Given the description of an element on the screen output the (x, y) to click on. 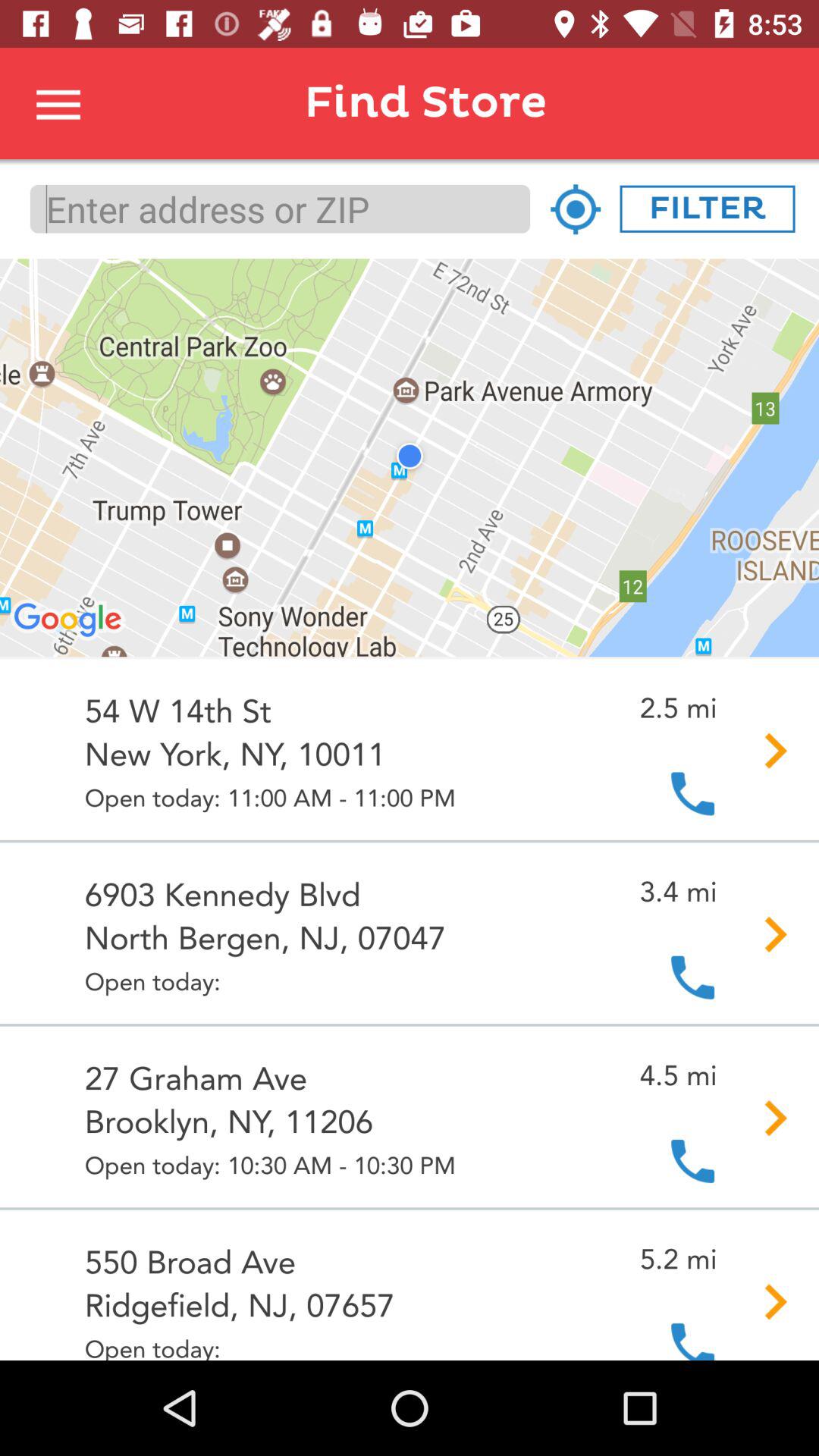
view location (575, 208)
